Given the description of an element on the screen output the (x, y) to click on. 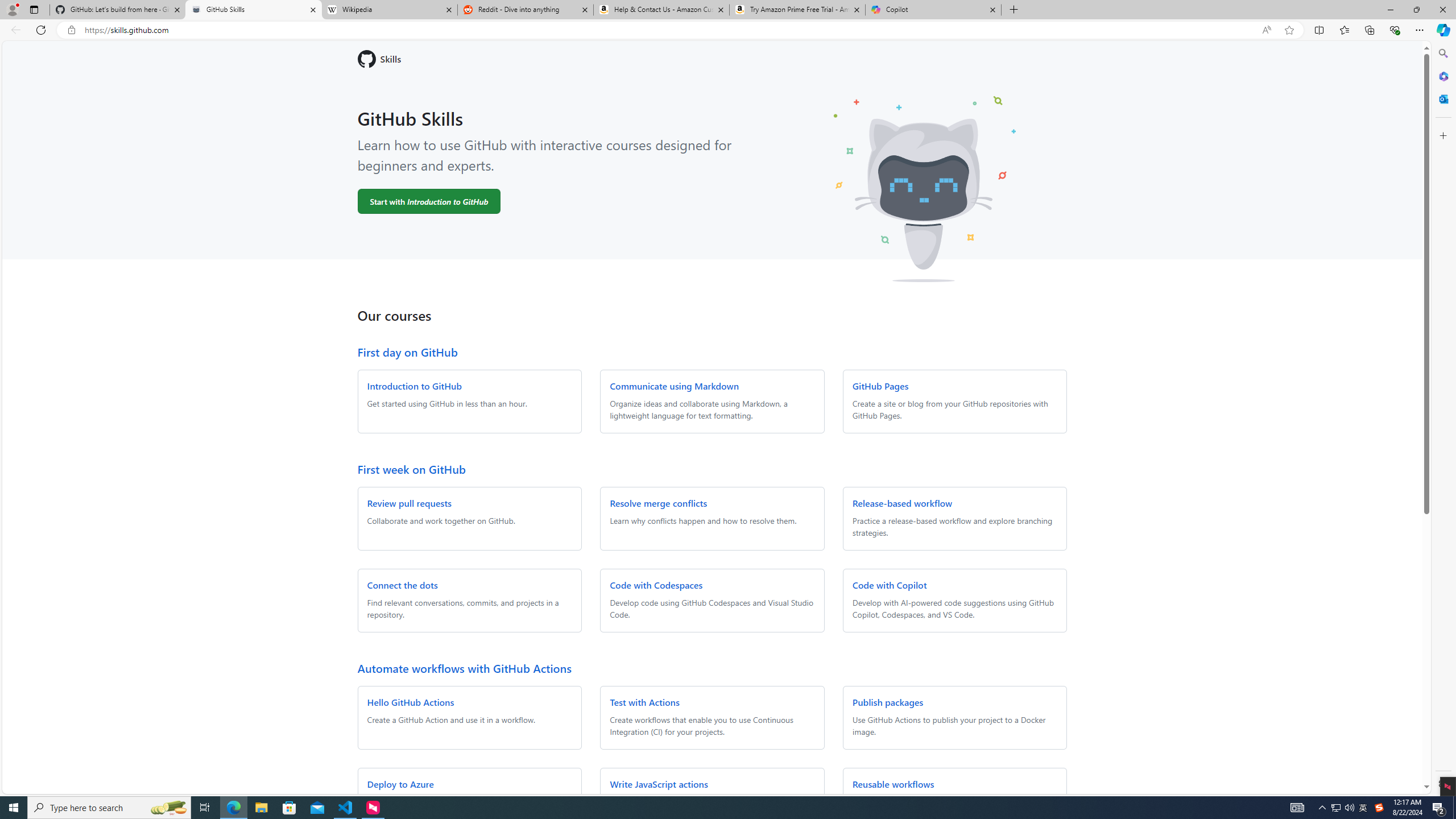
Introduction to GitHub (413, 385)
Automate workflows with GitHub Actions (464, 667)
Start with Introduction to GitHub (428, 201)
GitHub Pages (879, 385)
Reusable workflows (892, 784)
Skills (711, 58)
Resolve merge conflicts (658, 503)
